Given the description of an element on the screen output the (x, y) to click on. 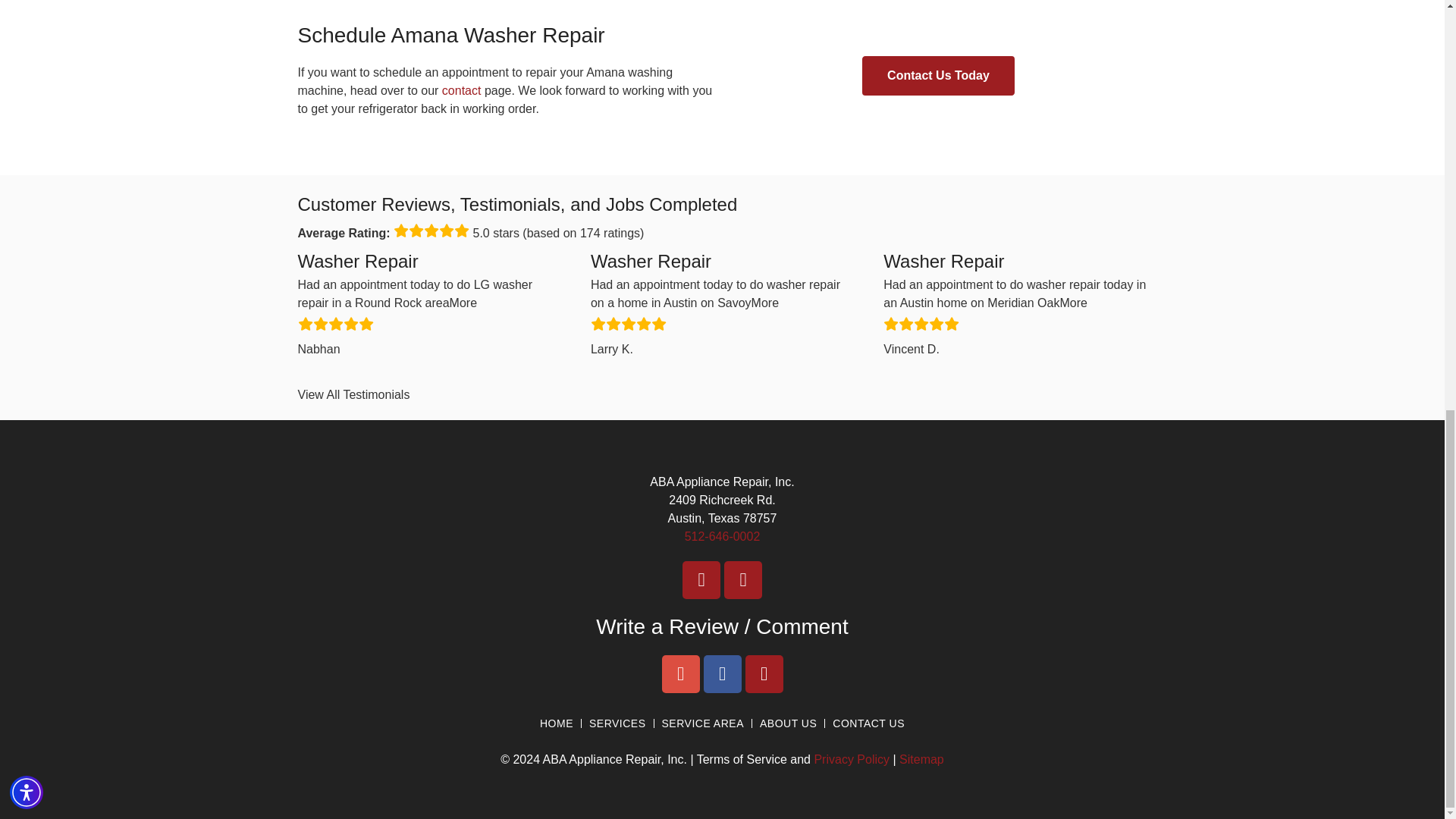
Contact Us (461, 90)
Sitemap (921, 758)
Privacy Policy (851, 758)
